Given the description of an element on the screen output the (x, y) to click on. 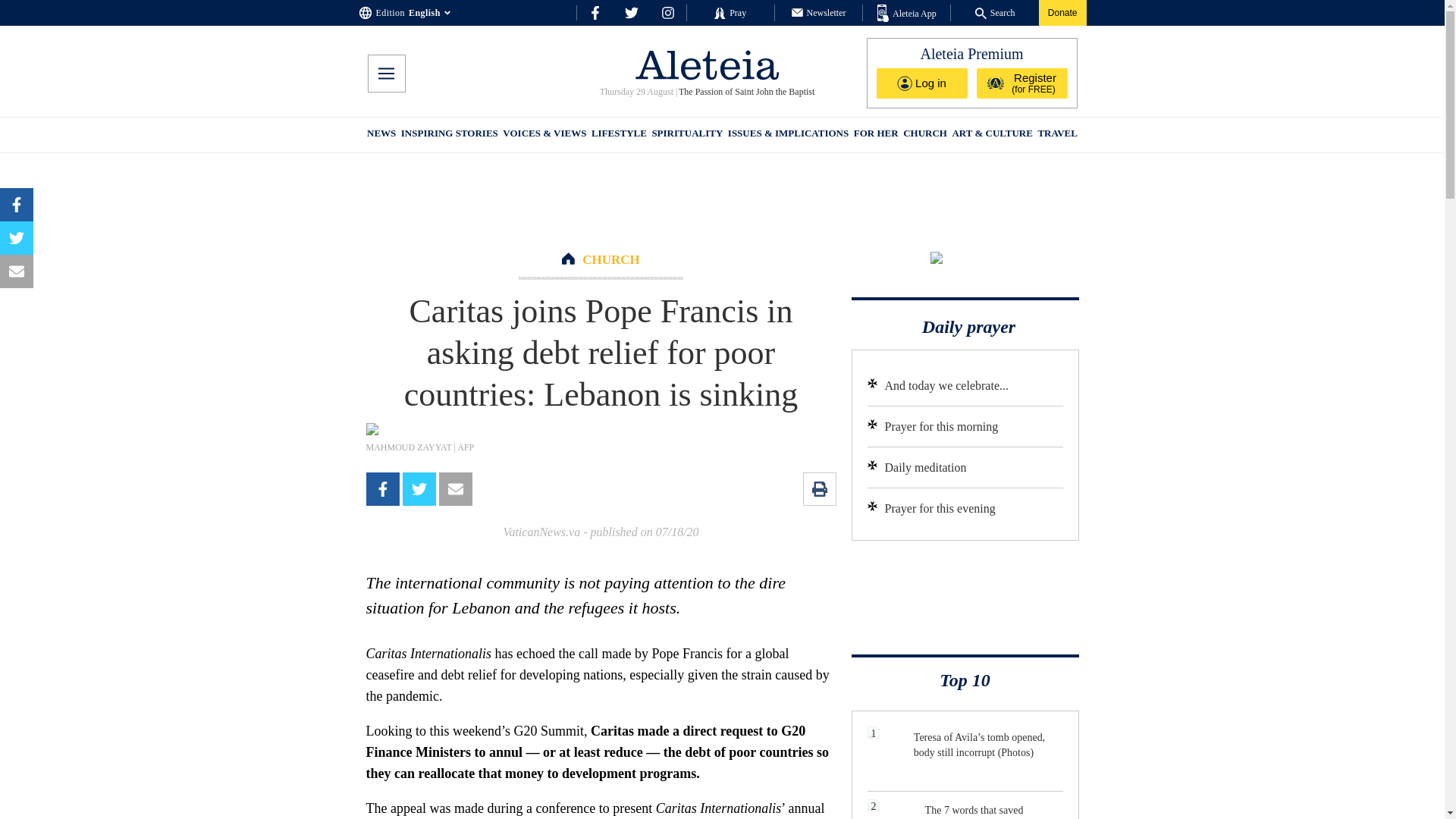
Donate (1062, 12)
logo-header (706, 64)
social-fb-top-row (595, 12)
Aleteia App (906, 13)
INSPIRING STORIES (449, 134)
TRAVEL (1056, 134)
Log in (922, 82)
LIFESTYLE (618, 134)
The Passion of Saint John the Baptist (745, 91)
Pray (729, 12)
